Given the description of an element on the screen output the (x, y) to click on. 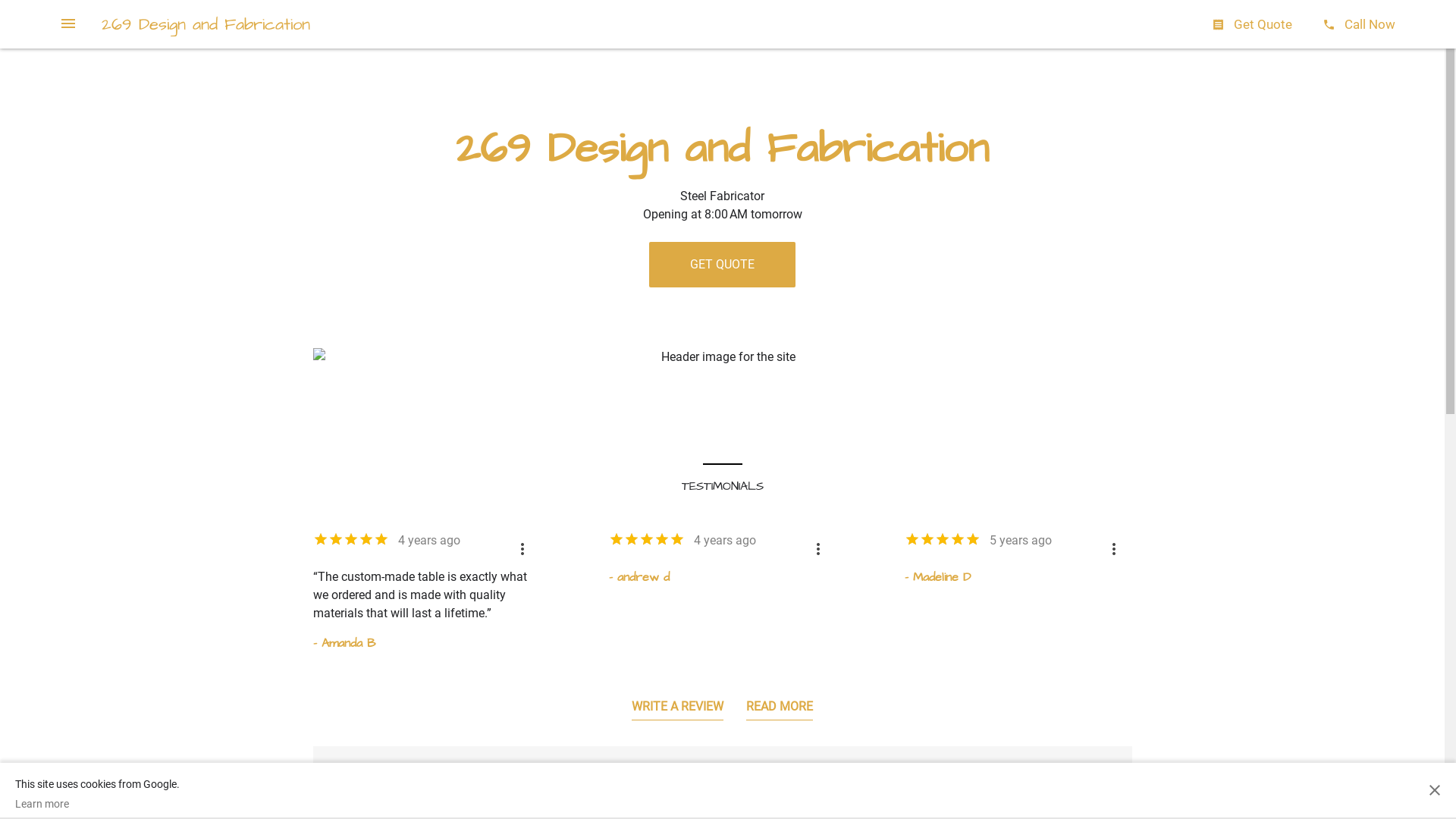
READ MORE Element type: text (779, 709)
WRITE A REVIEW Element type: text (677, 709)
Learn more Element type: text (97, 803)
GET QUOTE Element type: text (722, 264)
269 Design and Fabrication Element type: text (205, 23)
